Given the description of an element on the screen output the (x, y) to click on. 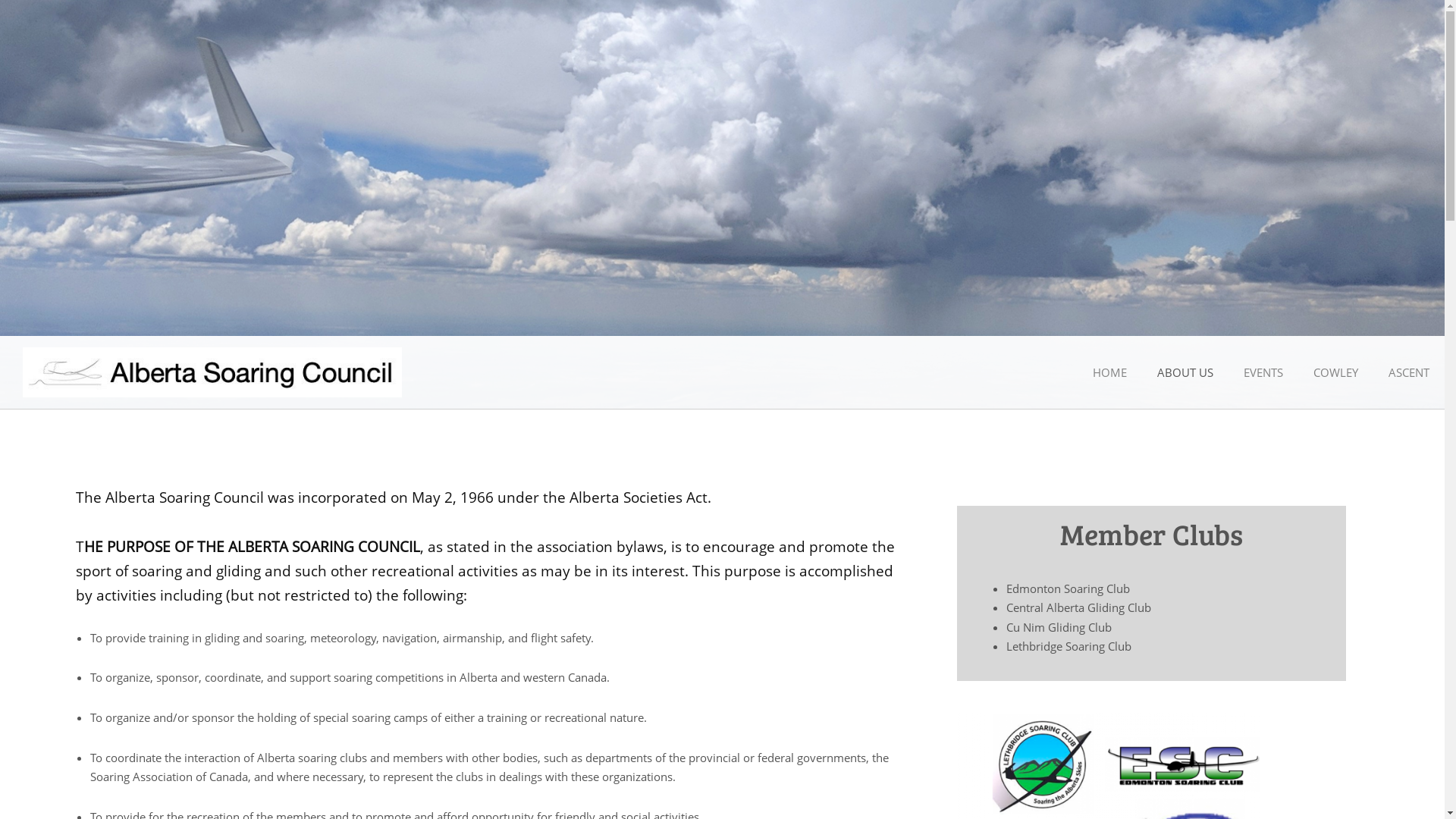
COWLEY Element type: text (1335, 372)
Go to site home page Element type: hover (211, 372)
HOME Element type: text (1109, 372)
Cu Nim Gliding Club Element type: text (1058, 626)
ASCENT Element type: text (1408, 372)
EVENTS Element type: text (1263, 372)
ABOUT US Element type: text (1185, 372)
Central Alberta Gliding Club Element type: text (1078, 607)
Lethbridge Soaring Club Element type: text (1068, 645)
Edmonton Soaring Club Element type: text (1067, 588)
